Given the description of an element on the screen output the (x, y) to click on. 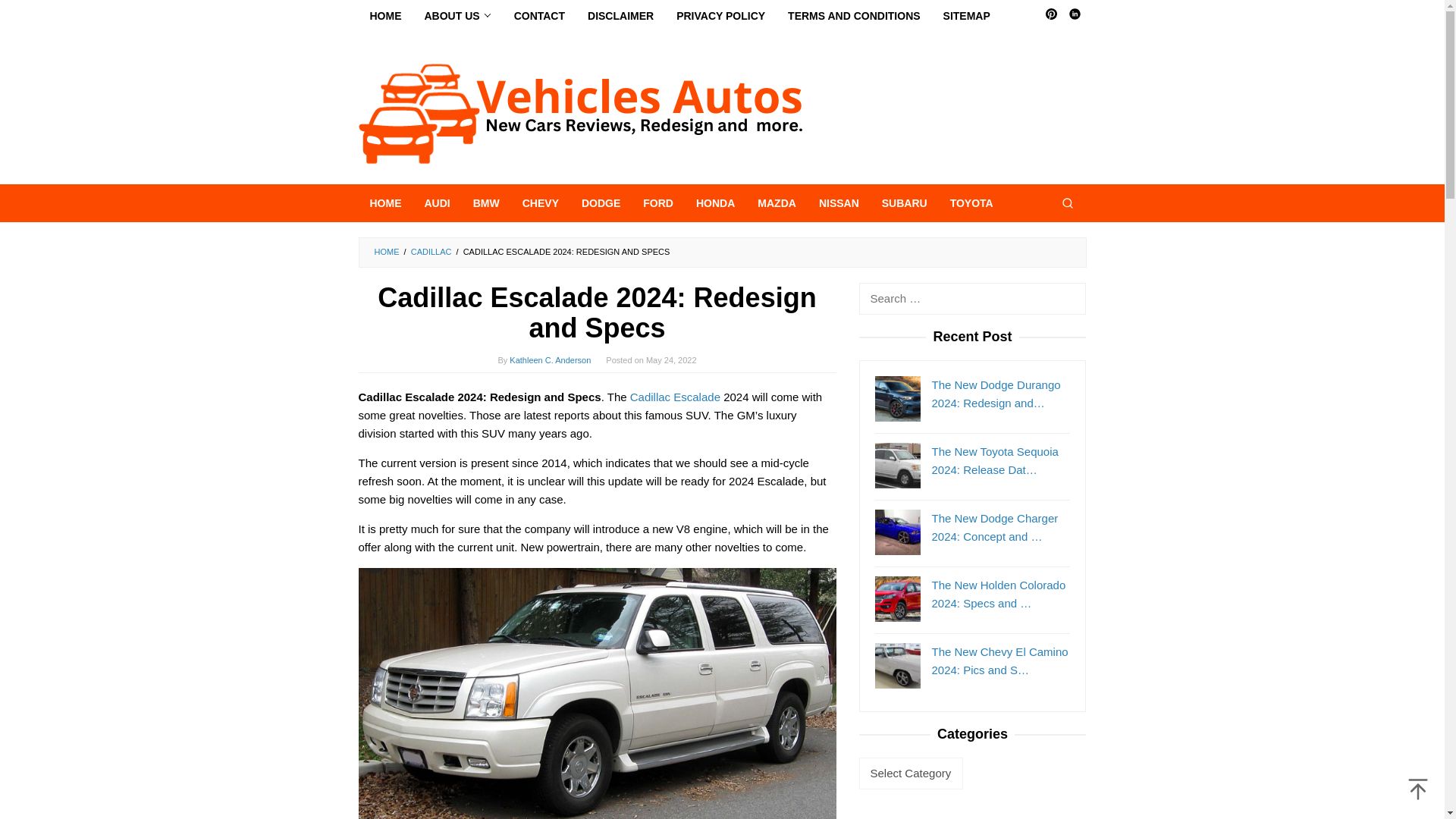
FORD (657, 202)
SUBARU (904, 202)
TOYOTA (971, 202)
HOME (385, 202)
ABOUT US (457, 15)
NISSAN (839, 202)
HONDA (714, 202)
Vehicles Autos (580, 112)
Kathleen C. Anderson (550, 359)
